Given the description of an element on the screen output the (x, y) to click on. 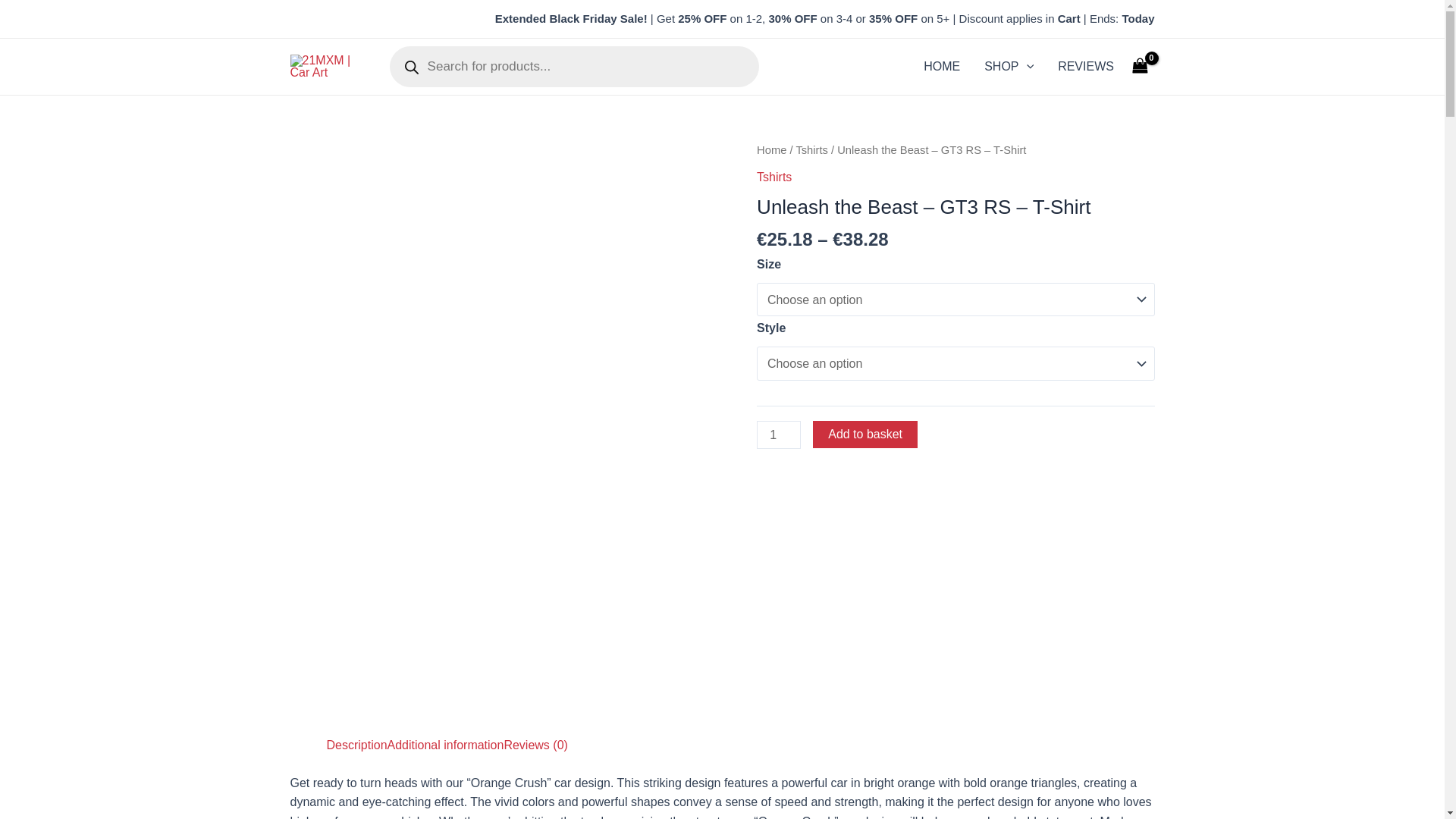
Tshirts Element type: text (773, 176)
Home Element type: text (771, 150)
Add to basket Element type: text (864, 434)
REVIEWS Element type: text (1085, 66)
Tshirts Element type: text (811, 150)
HOME Element type: text (941, 66)
SHOP Element type: text (1008, 66)
Reviews (0) Element type: text (535, 744)
Description Element type: text (356, 744)
Additional information Element type: text (445, 744)
